Given the description of an element on the screen output the (x, y) to click on. 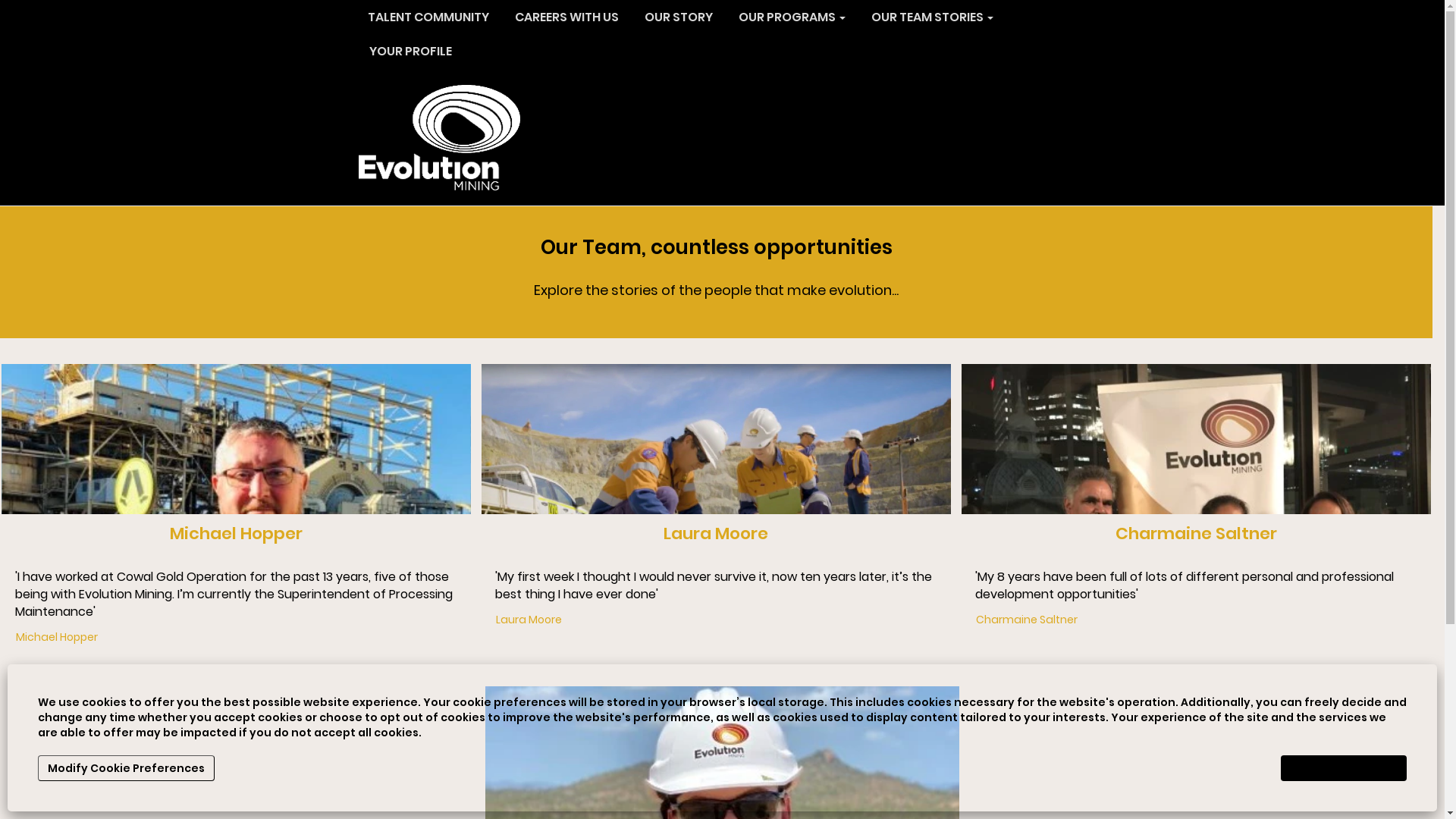
Accept All Cookies Element type: text (1343, 768)
Michael Hopper Element type: text (236, 533)
Michael Hopper Element type: text (56, 636)
Charmaine Saltner Element type: text (1026, 619)
Modify Cookie Preferences Element type: text (125, 768)
Laura Moore Element type: text (715, 533)
OUR PROGRAMS Element type: text (791, 17)
CAREERS WITH US Element type: text (566, 17)
Laura Moore Element type: text (528, 619)
Laura Moore Element type: hover (482, 372)
Michael Hopper Element type: hover (2, 372)
OUR STORY Element type: text (678, 17)
YOUR PROFILE Element type: text (409, 51)
TALENT COMMUNITY Element type: text (427, 17)
Charmaine Saltner Element type: text (1195, 533)
Charmaine Saltner Element type: hover (962, 372)
OUR TEAM STORIES Element type: text (931, 17)
Emma Stuart Element type: hover (485, 694)
